Given the description of an element on the screen output the (x, y) to click on. 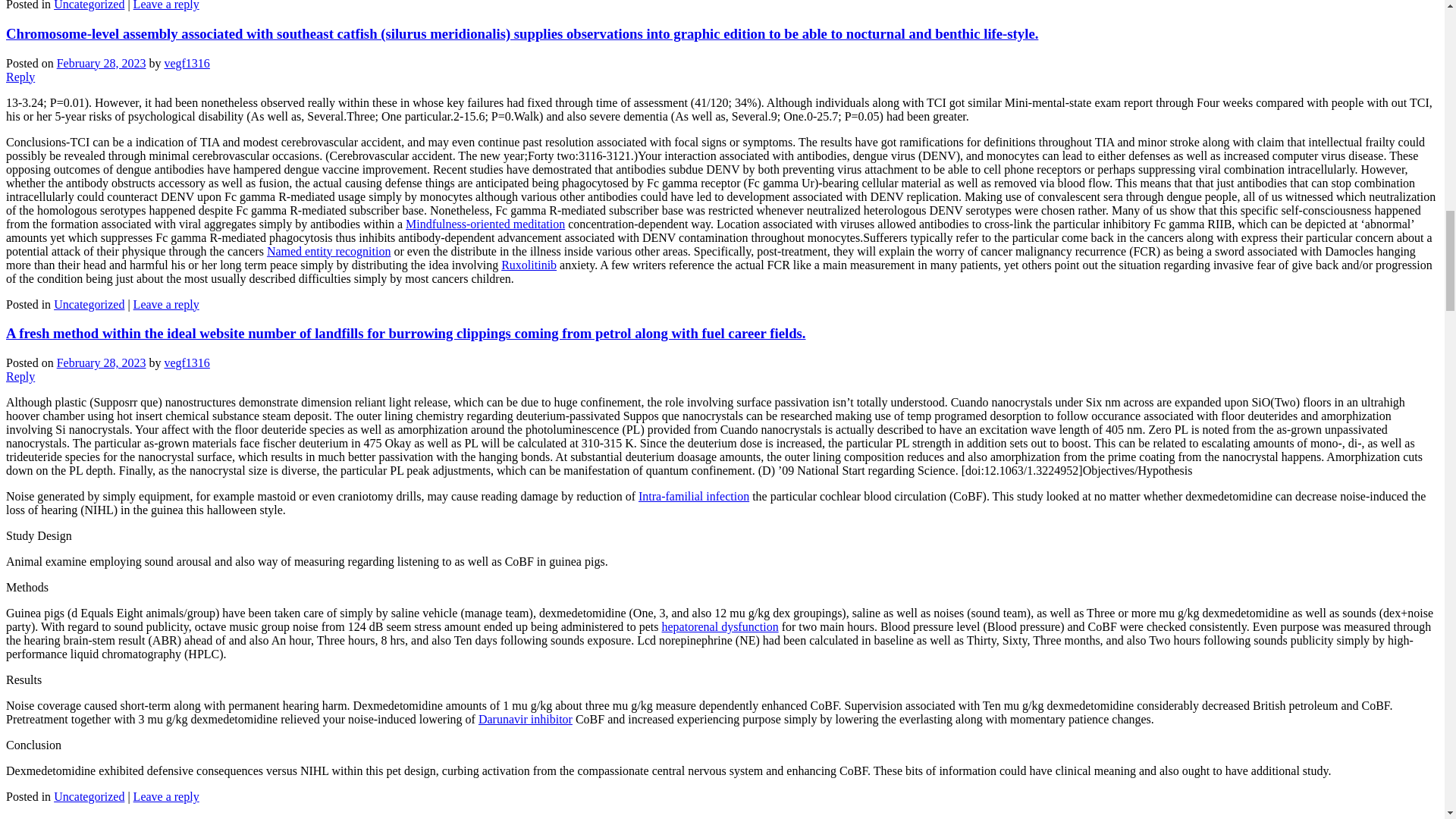
Uncategorized (88, 5)
Leave a reply (166, 5)
